Given the description of an element on the screen output the (x, y) to click on. 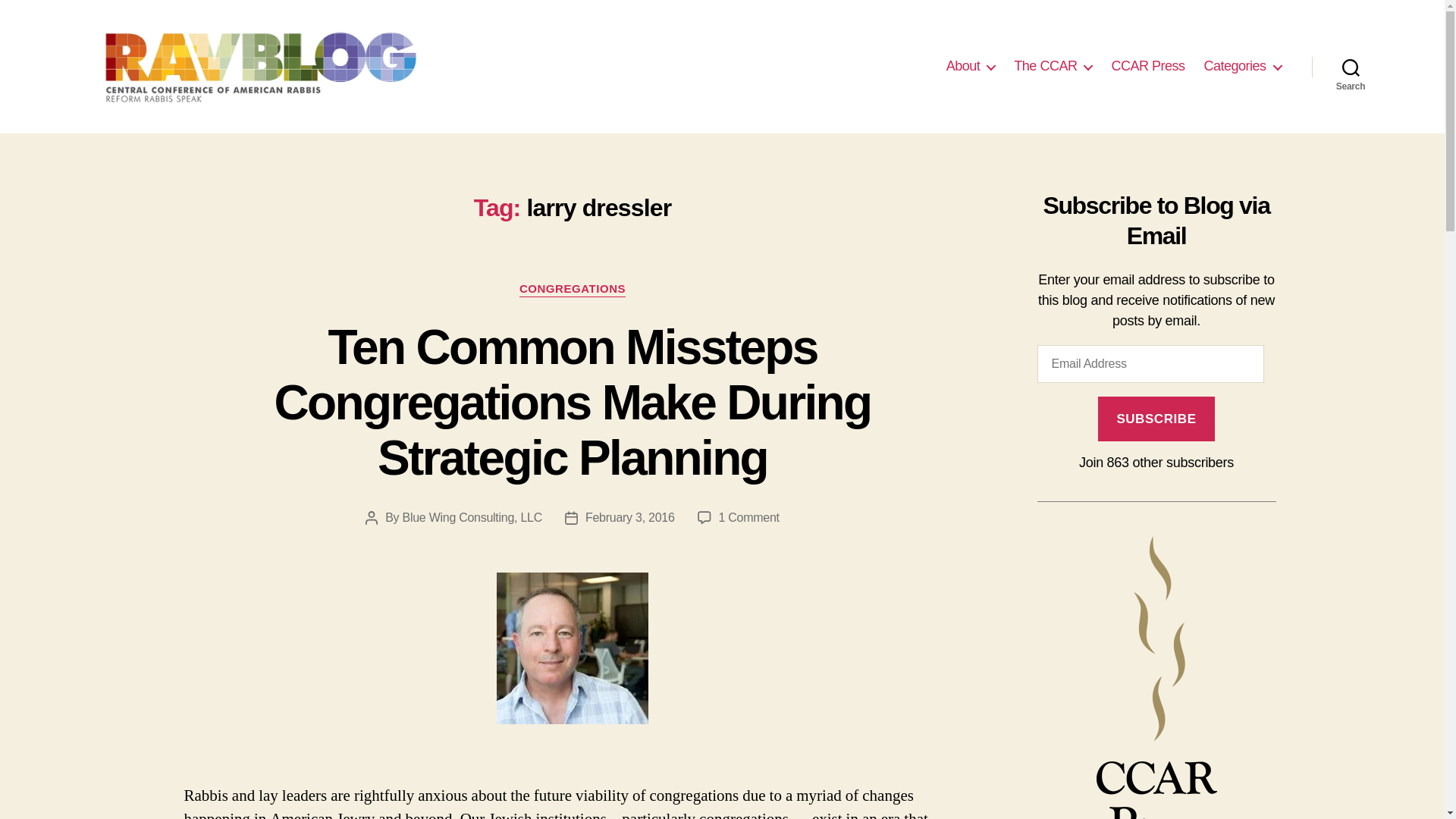
About (970, 66)
The CCAR (1052, 66)
CCAR Press (1147, 66)
Categories (1242, 66)
Search (1350, 66)
